Given the description of an element on the screen output the (x, y) to click on. 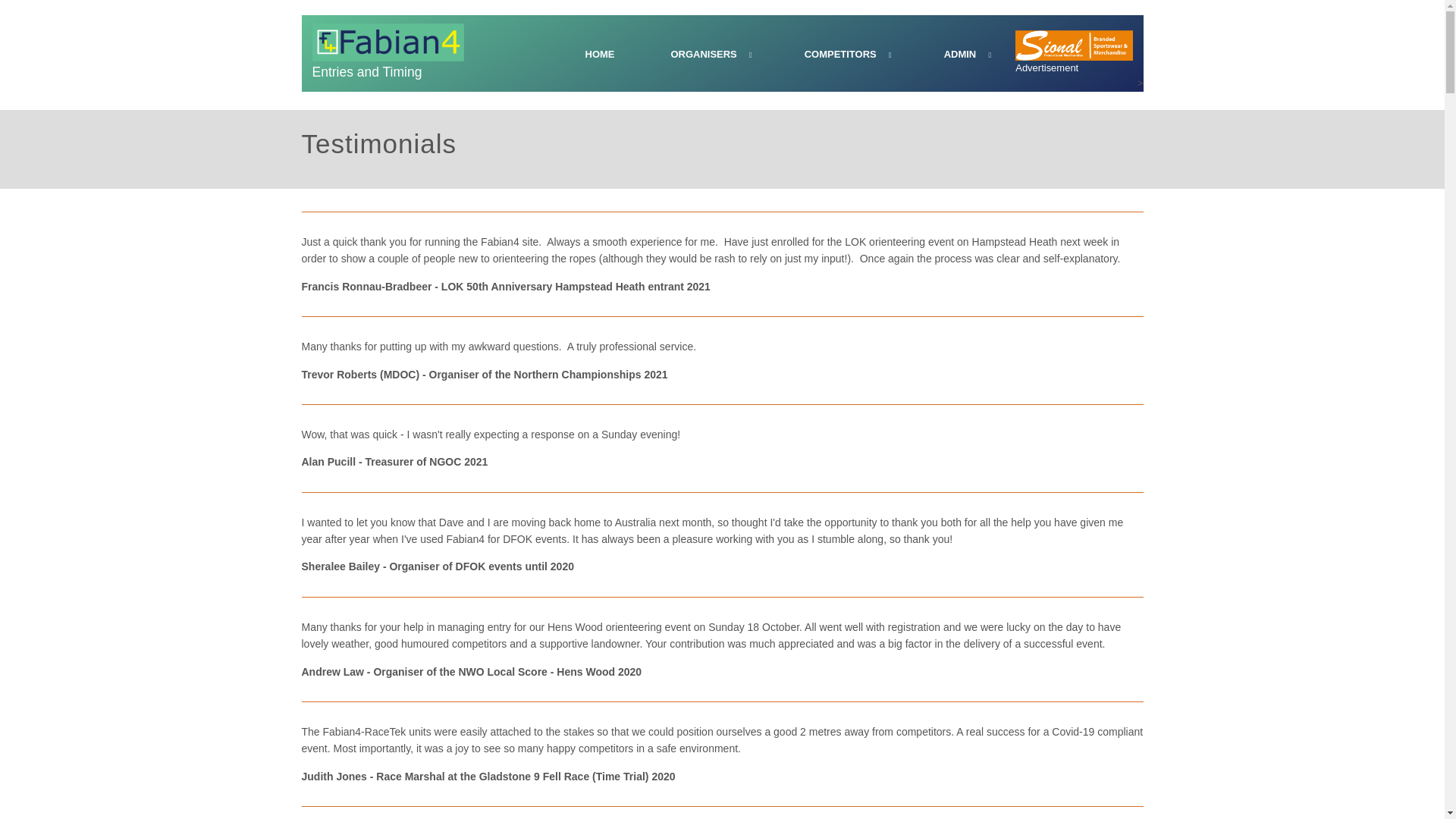
ADMIN (965, 54)
Entries and Timing (388, 53)
HOME (599, 54)
COMPETITORS (846, 54)
ORGANISERS (708, 54)
